Given the description of an element on the screen output the (x, y) to click on. 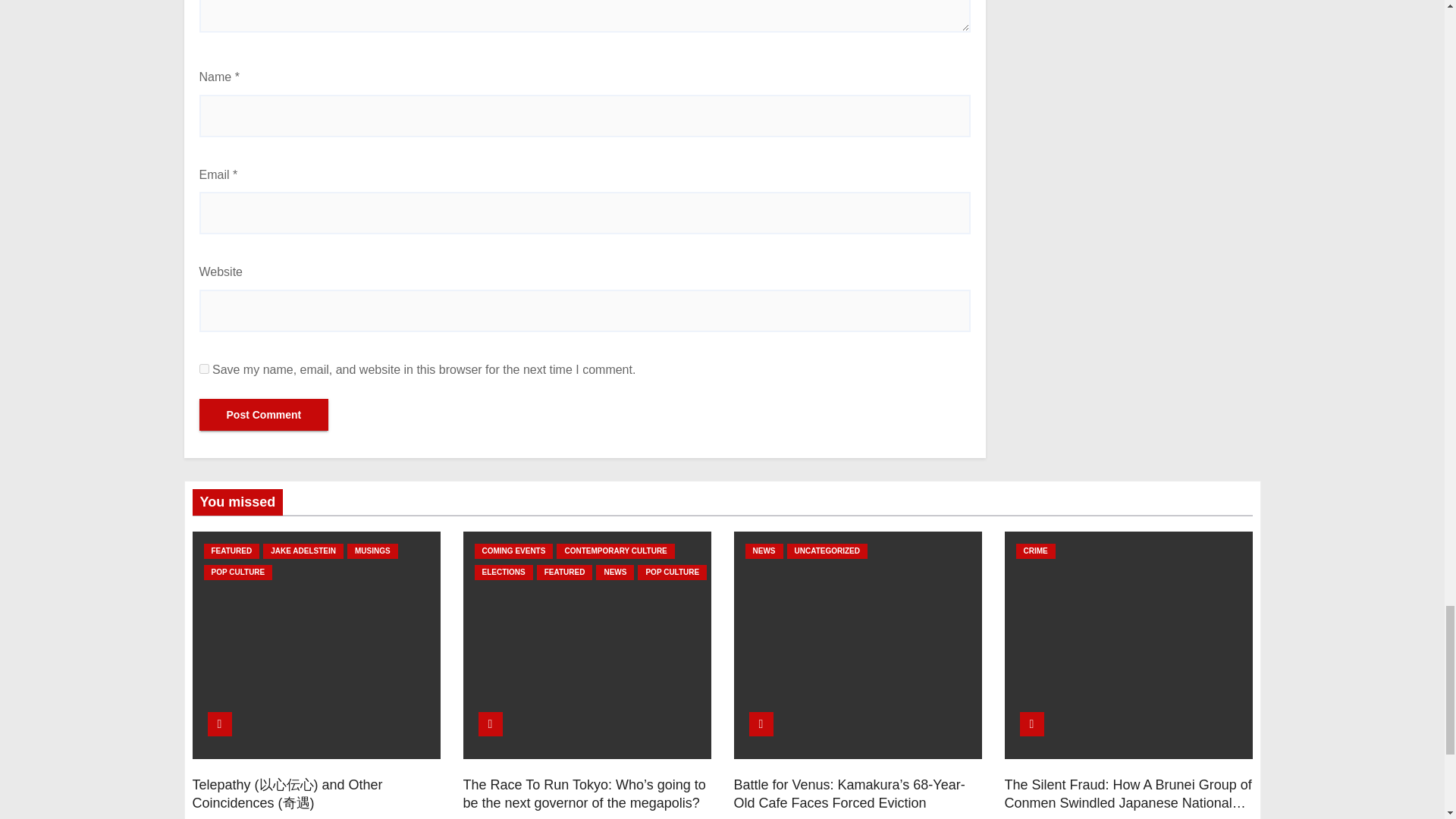
Post Comment (263, 414)
yes (203, 368)
